Given the description of an element on the screen output the (x, y) to click on. 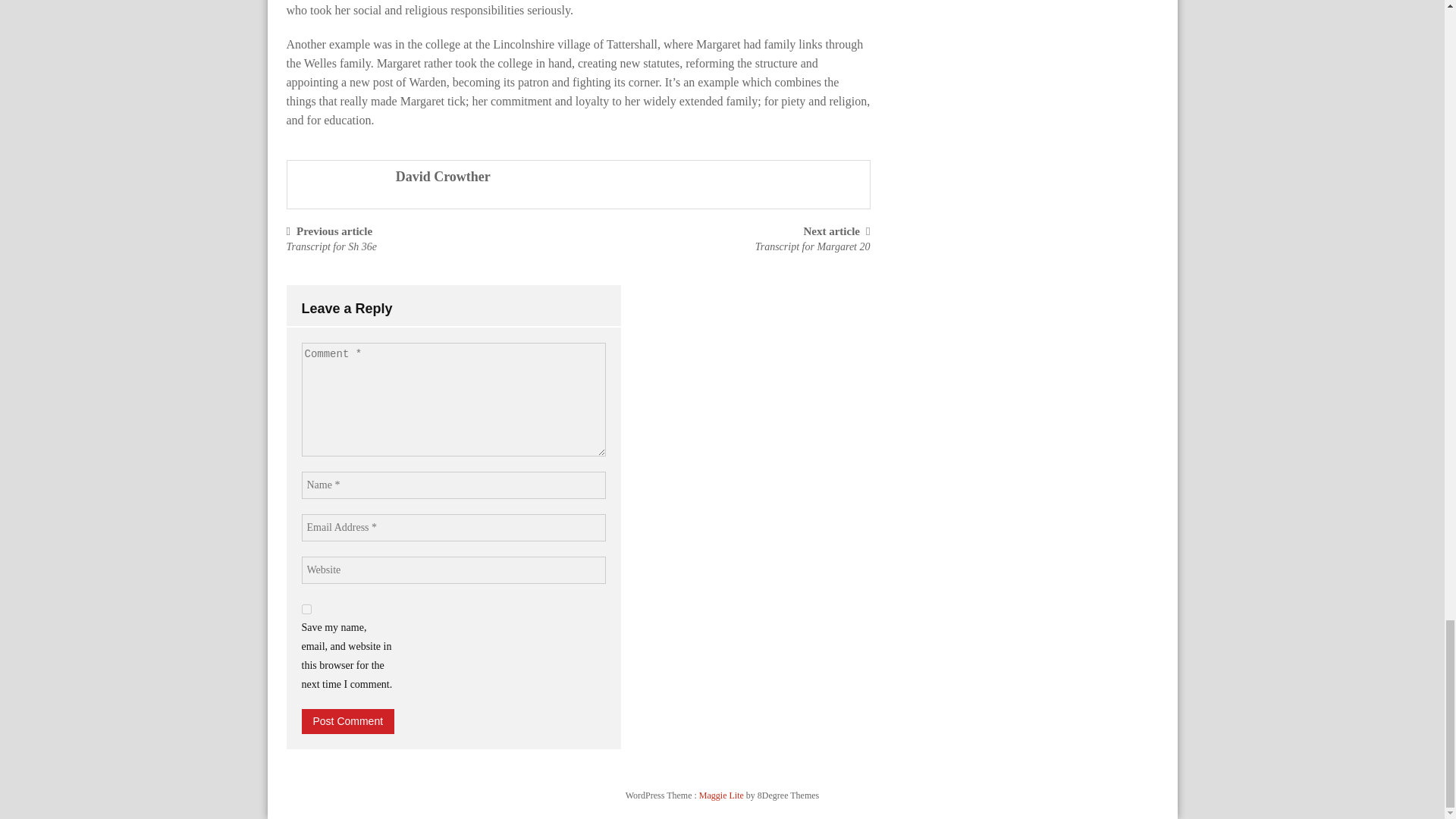
Free WordPress Theme (721, 795)
yes (306, 609)
Post Comment (347, 721)
